Given the description of an element on the screen output the (x, y) to click on. 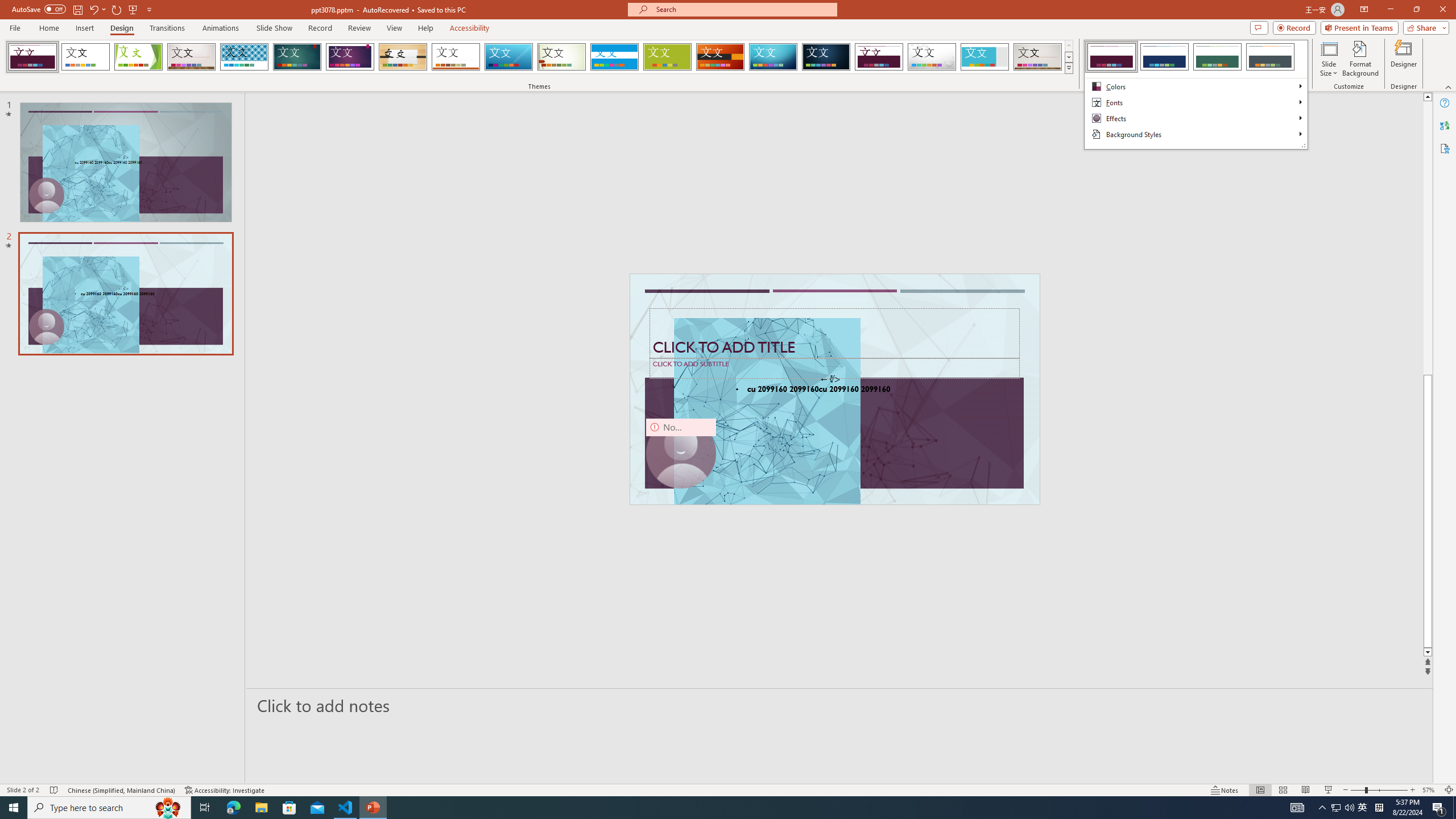
Search highlights icon opens search home window (167, 807)
AutomationID: 4105 (1297, 807)
Microsoft Store (289, 807)
Berlin (720, 56)
Circuit (772, 56)
Ion Boardroom (350, 56)
Q2790: 100% (1349, 807)
